Given the description of an element on the screen output the (x, y) to click on. 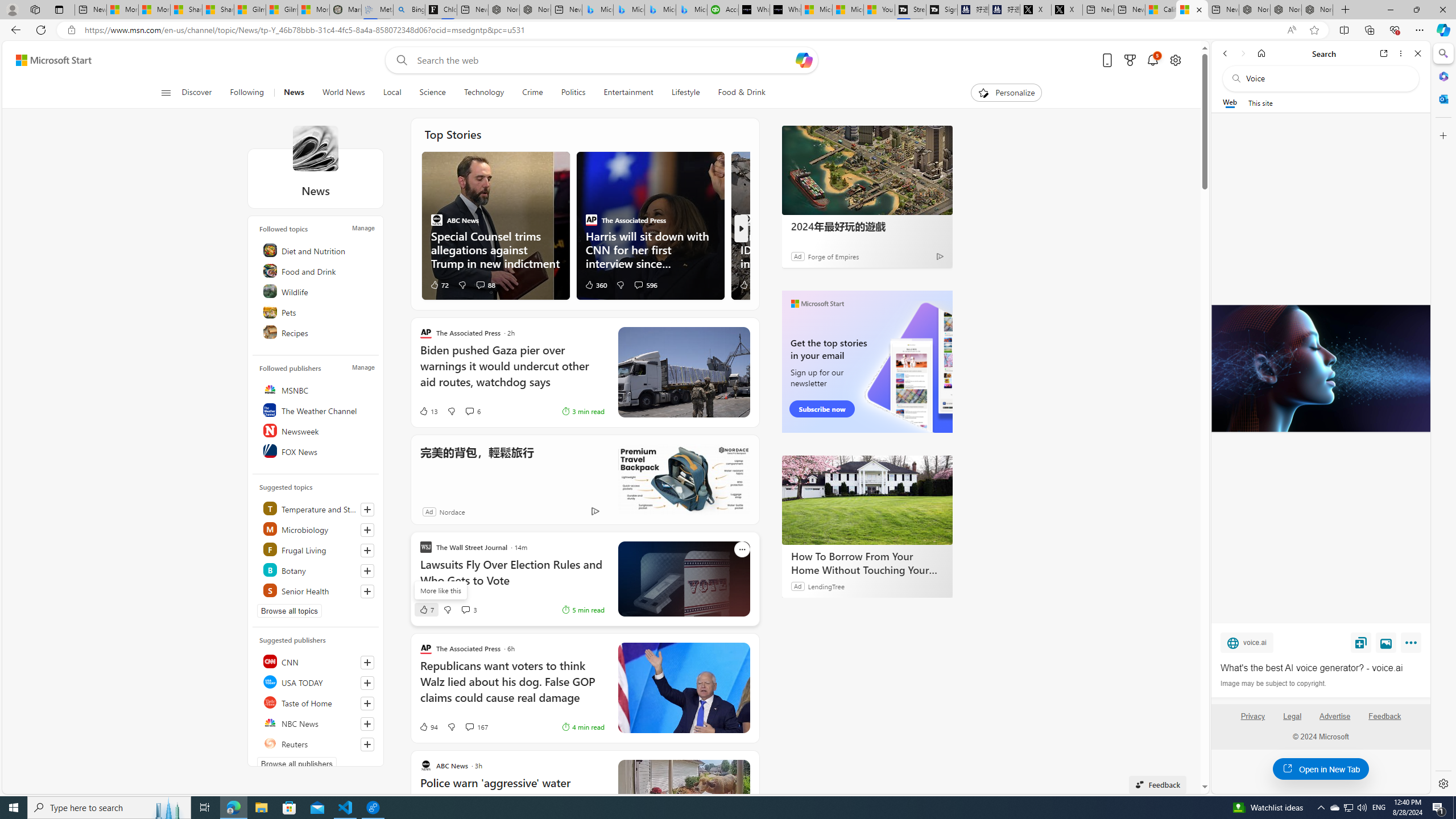
Privacy (1252, 715)
Web scope (1230, 102)
This site scope (1259, 102)
Class: highlight (317, 590)
Personalize (1006, 92)
Wildlife (317, 290)
Settings (1442, 783)
Reuters (317, 743)
Browse all topics (289, 610)
